Given the description of an element on the screen output the (x, y) to click on. 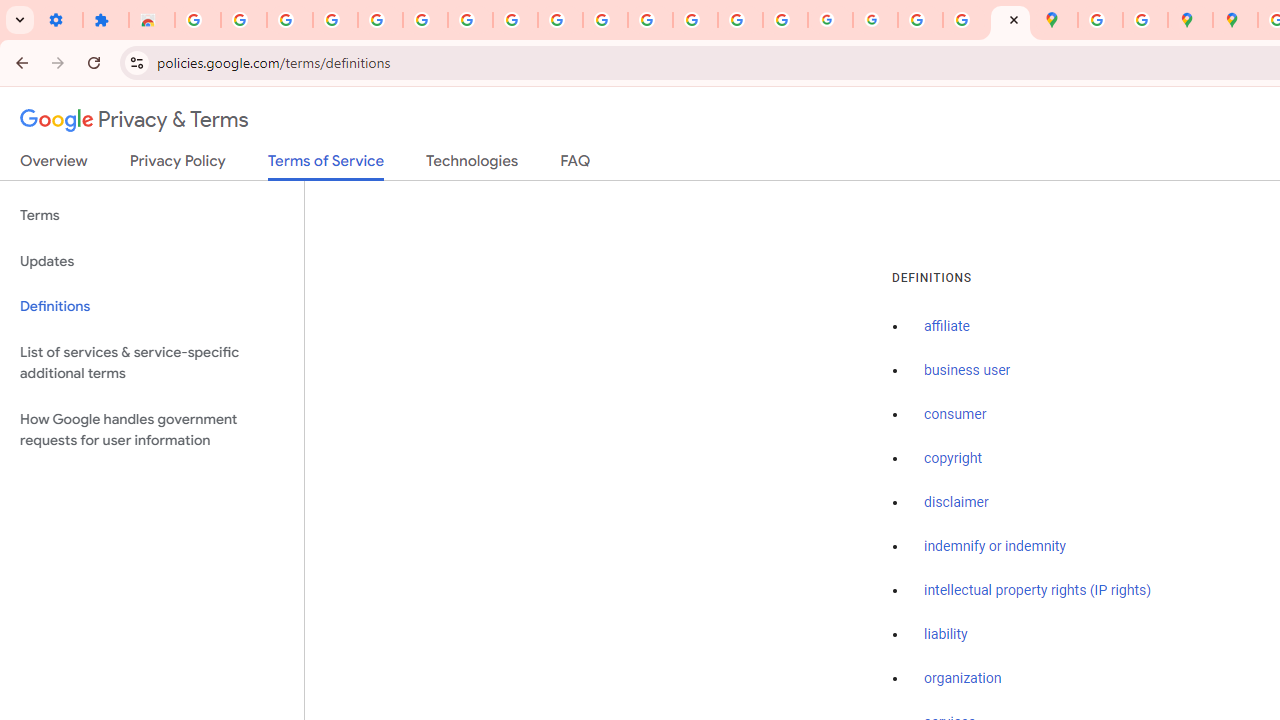
List of services & service-specific additional terms (152, 362)
liability (945, 634)
Settings - On startup (60, 20)
Delete photos & videos - Computer - Google Photos Help (290, 20)
